Given the description of an element on the screen output the (x, y) to click on. 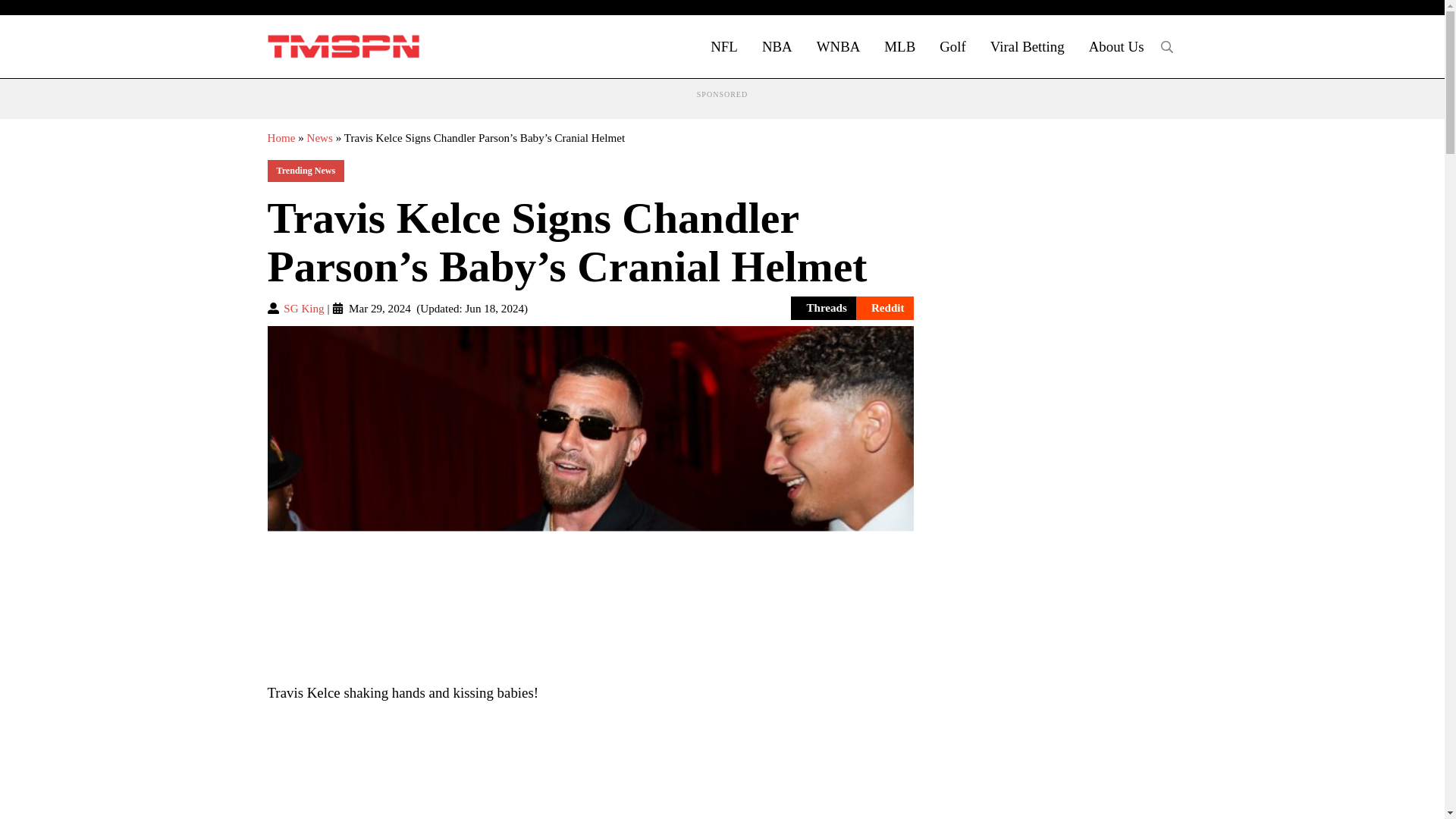
About Us (1116, 46)
Share on Twitter (764, 308)
Golf (952, 46)
Trending News (304, 169)
Viral Betting (1027, 46)
Share on Reddit (885, 308)
MLB (899, 46)
search (1166, 46)
Reddit (885, 308)
News (318, 137)
WNBA (838, 46)
Share on Facebook (695, 308)
SG King (303, 308)
Tweet (764, 308)
